Given the description of an element on the screen output the (x, y) to click on. 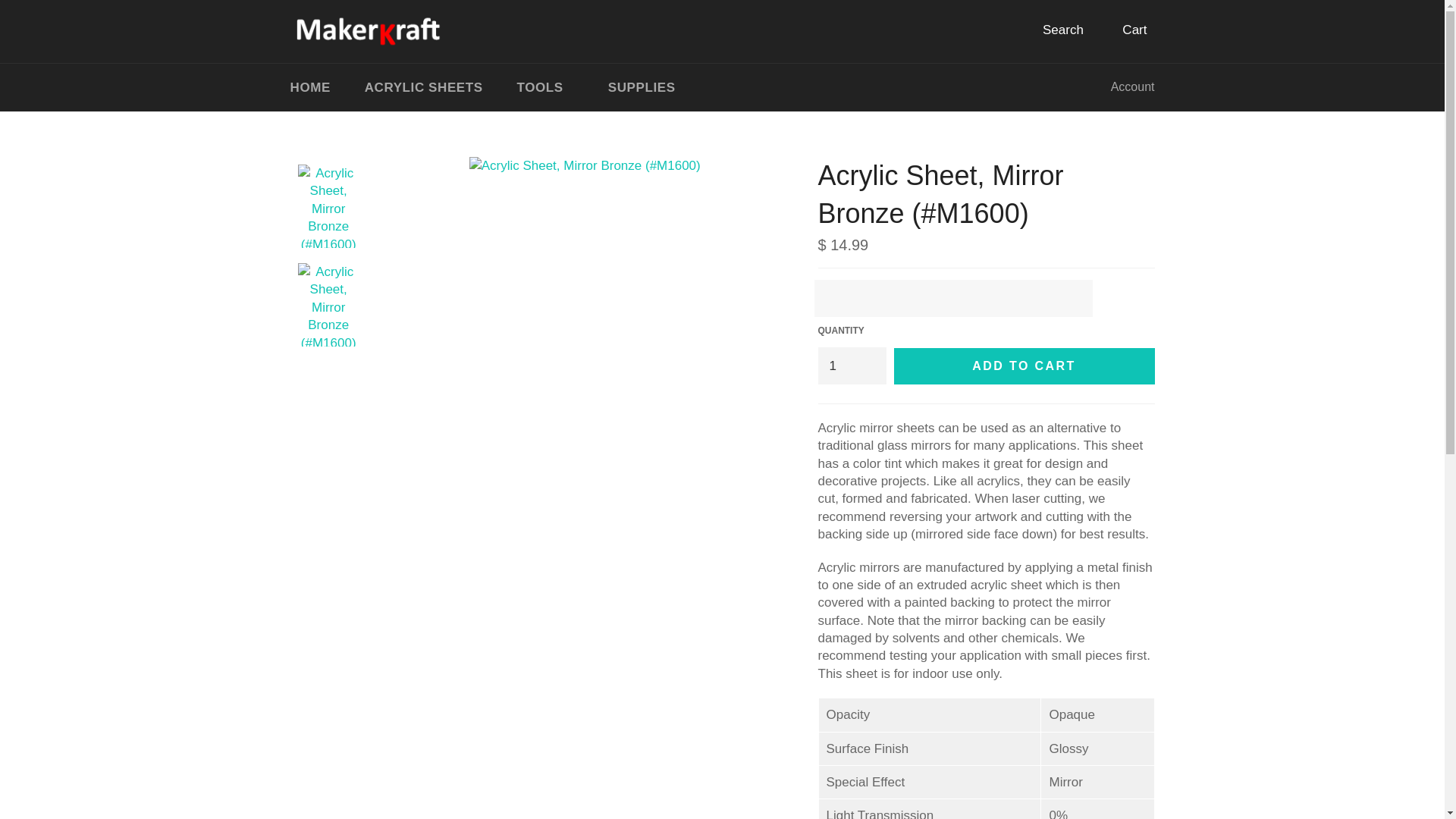
Search (1052, 30)
Account (1132, 86)
HOME (310, 87)
TOOLS (544, 87)
ADD TO CART (1023, 366)
1 (850, 365)
SUPPLIES (641, 87)
Cart (1124, 30)
ACRYLIC SHEETS (423, 87)
